Given the description of an element on the screen output the (x, y) to click on. 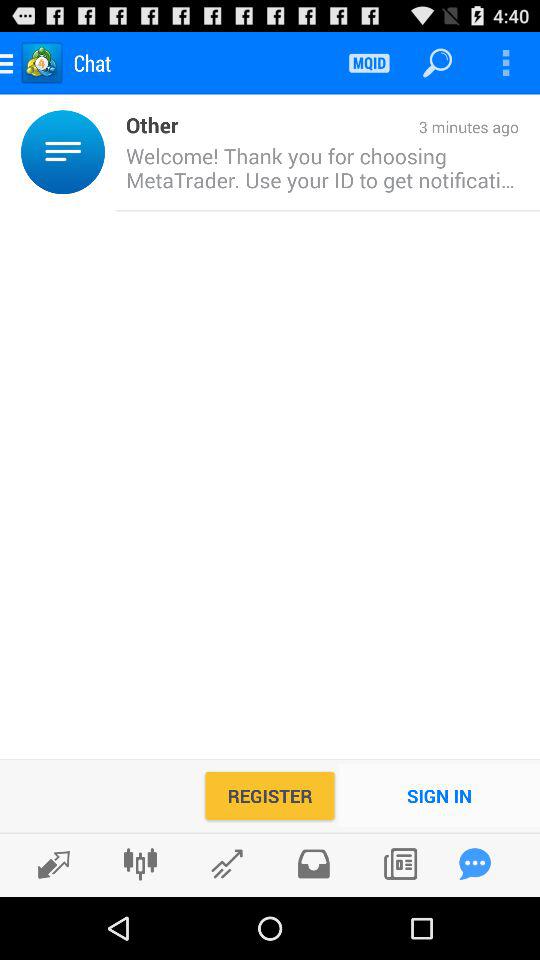
scroll to sign in icon (439, 795)
